Given the description of an element on the screen output the (x, y) to click on. 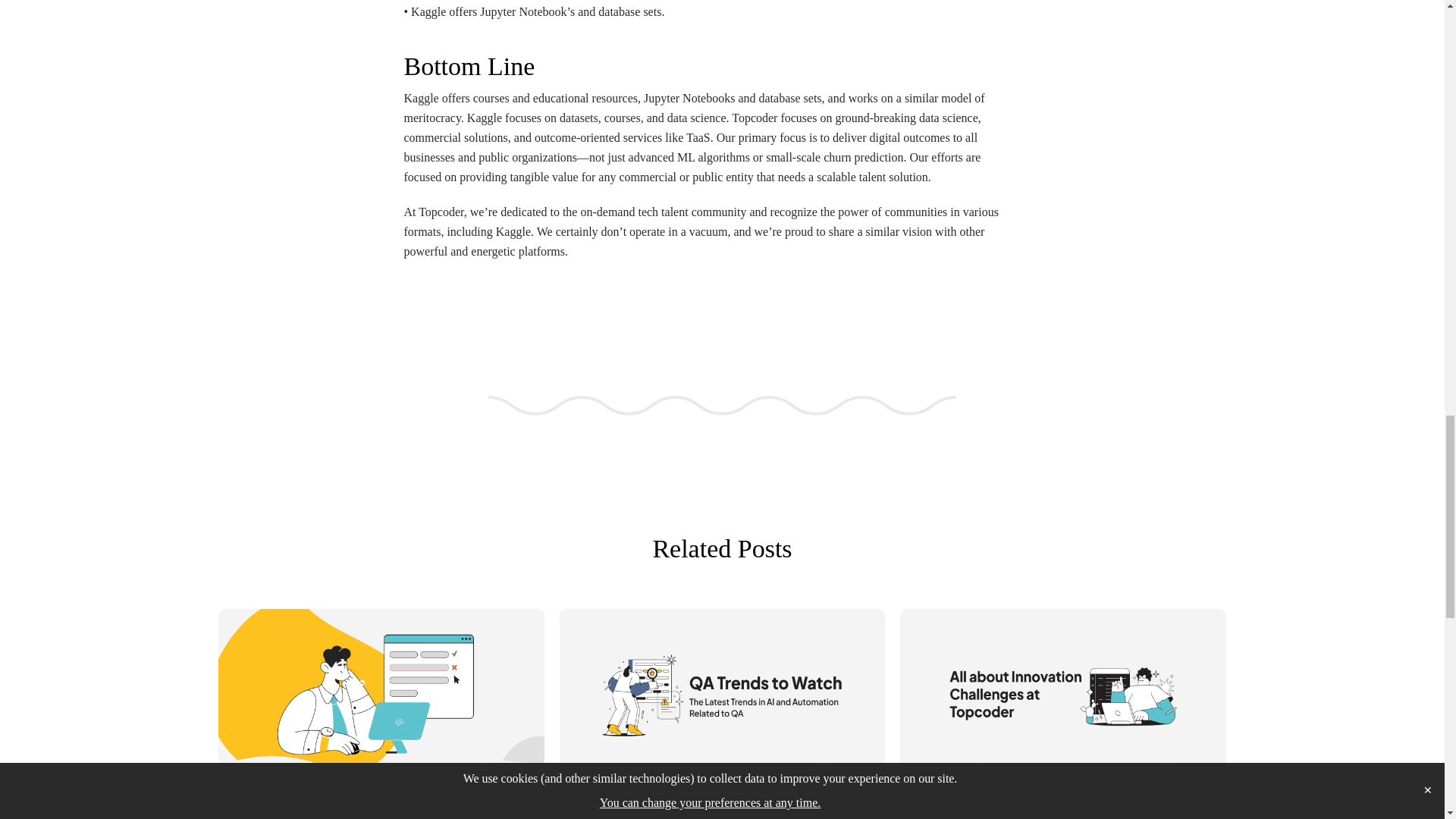
Quality Assurance (700, 797)
Challenge Model (968, 797)
Future of Work (1107, 797)
Future of Work (424, 797)
Data Science (1039, 797)
Challenge Model (285, 797)
Future of Work (624, 797)
Data Science (358, 797)
